Given the description of an element on the screen output the (x, y) to click on. 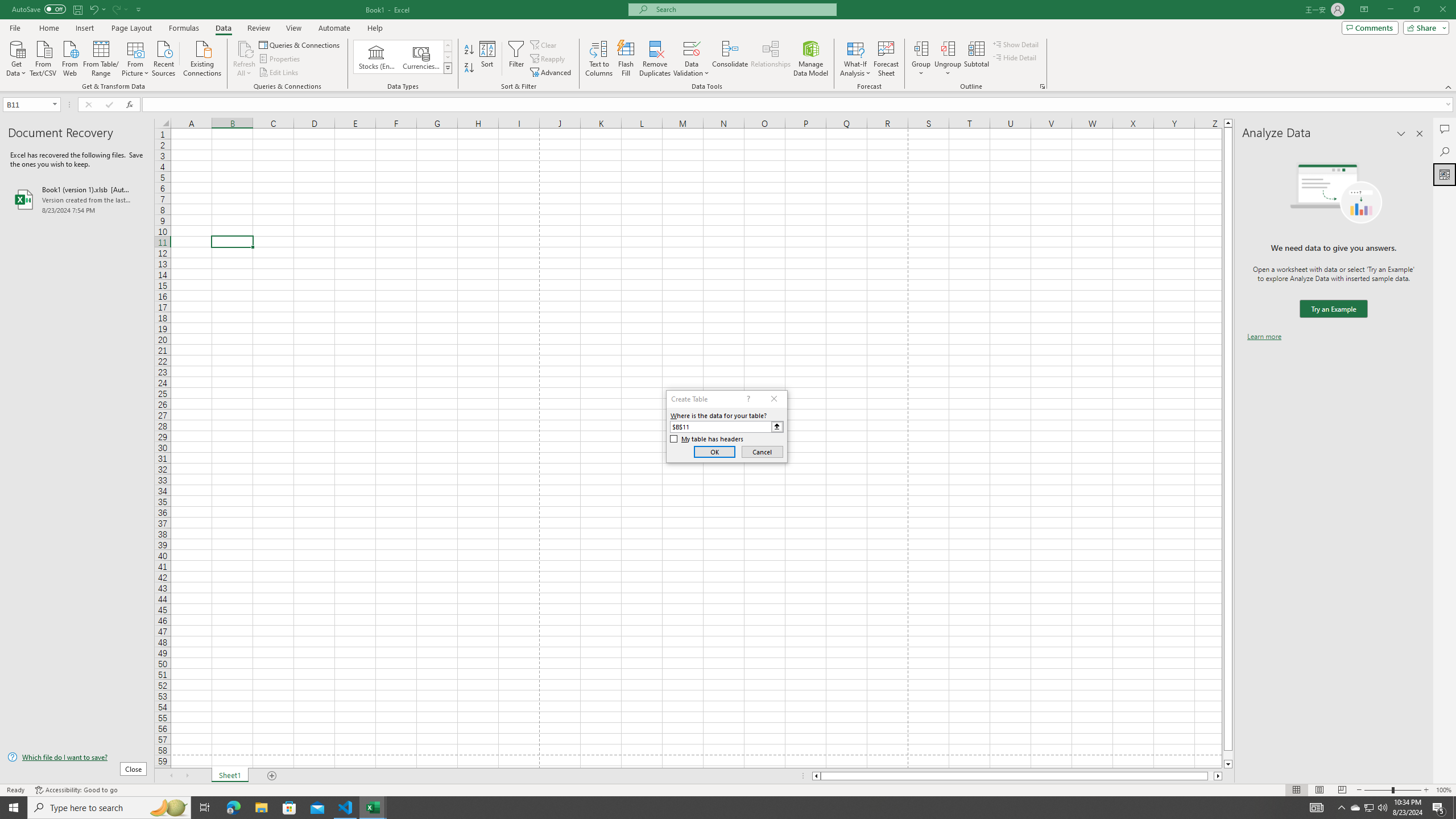
Help (374, 28)
Currencies (English) (420, 56)
Hide Detail (1014, 56)
Review (258, 28)
Get Data (16, 57)
Share (1423, 27)
Refresh All (244, 48)
Scroll Left (171, 775)
Flash Fill (625, 58)
Advanced... (551, 72)
Line down (1228, 764)
Add Sheet (272, 775)
